Given the description of an element on the screen output the (x, y) to click on. 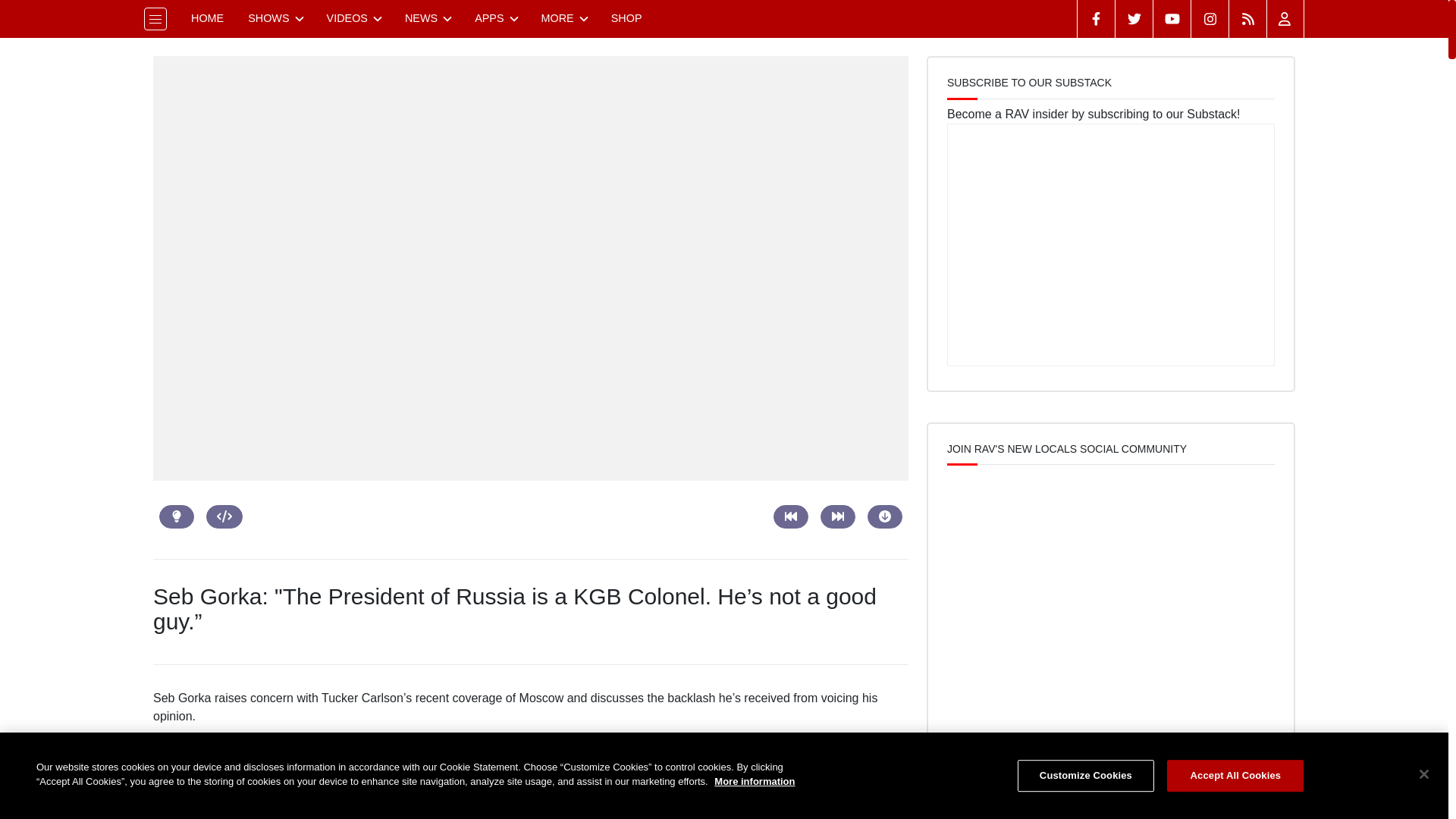
HOME (207, 18)
SHOWS (274, 18)
